Given the description of an element on the screen output the (x, y) to click on. 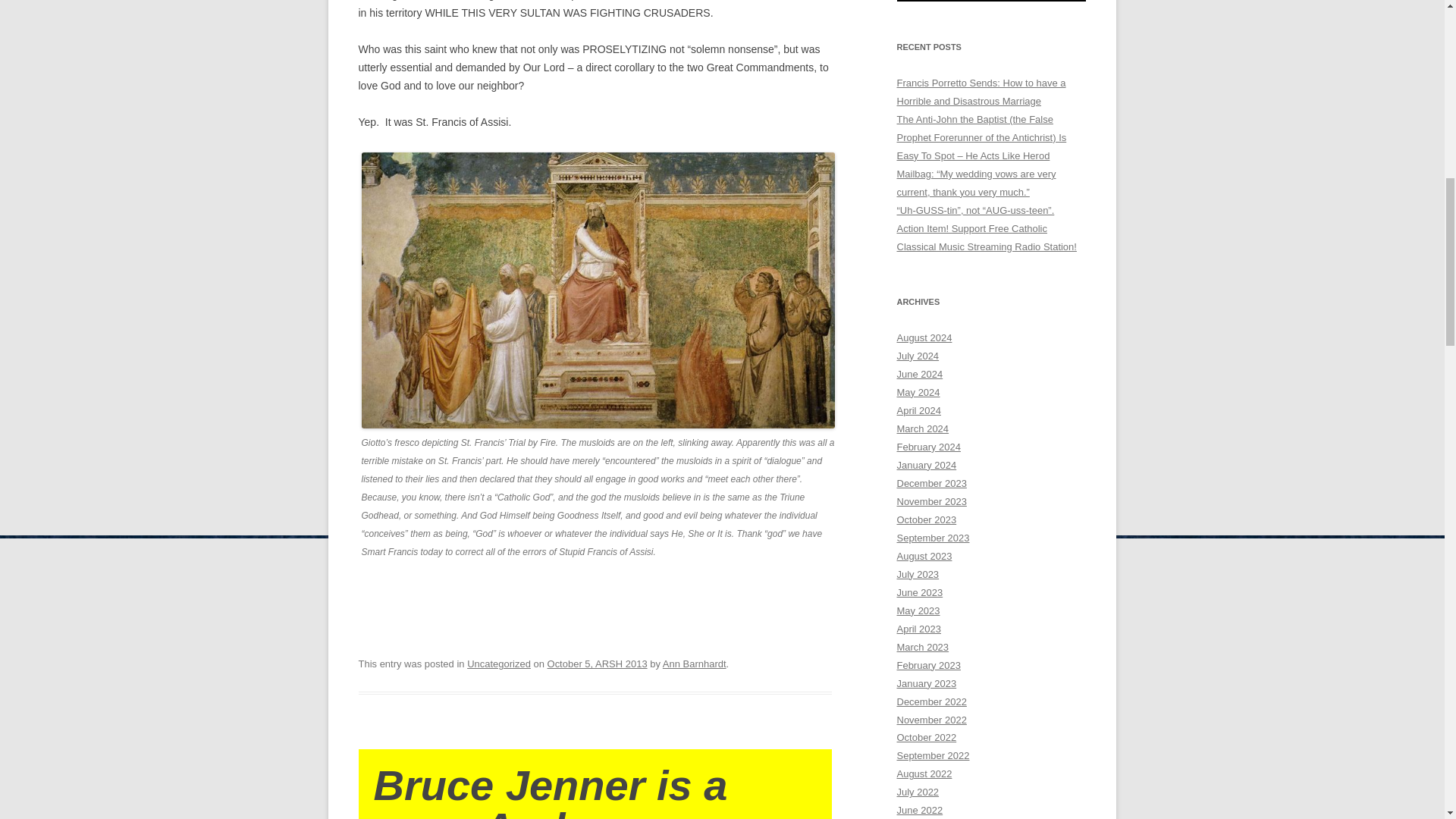
February 2024 (927, 446)
October 5, ARSH 2013 (597, 663)
August 2024 (924, 337)
Uncategorized (499, 663)
April 2024 (918, 410)
July 2024 (917, 355)
March 2024 (922, 428)
May 2024 (917, 392)
